Given the description of an element on the screen output the (x, y) to click on. 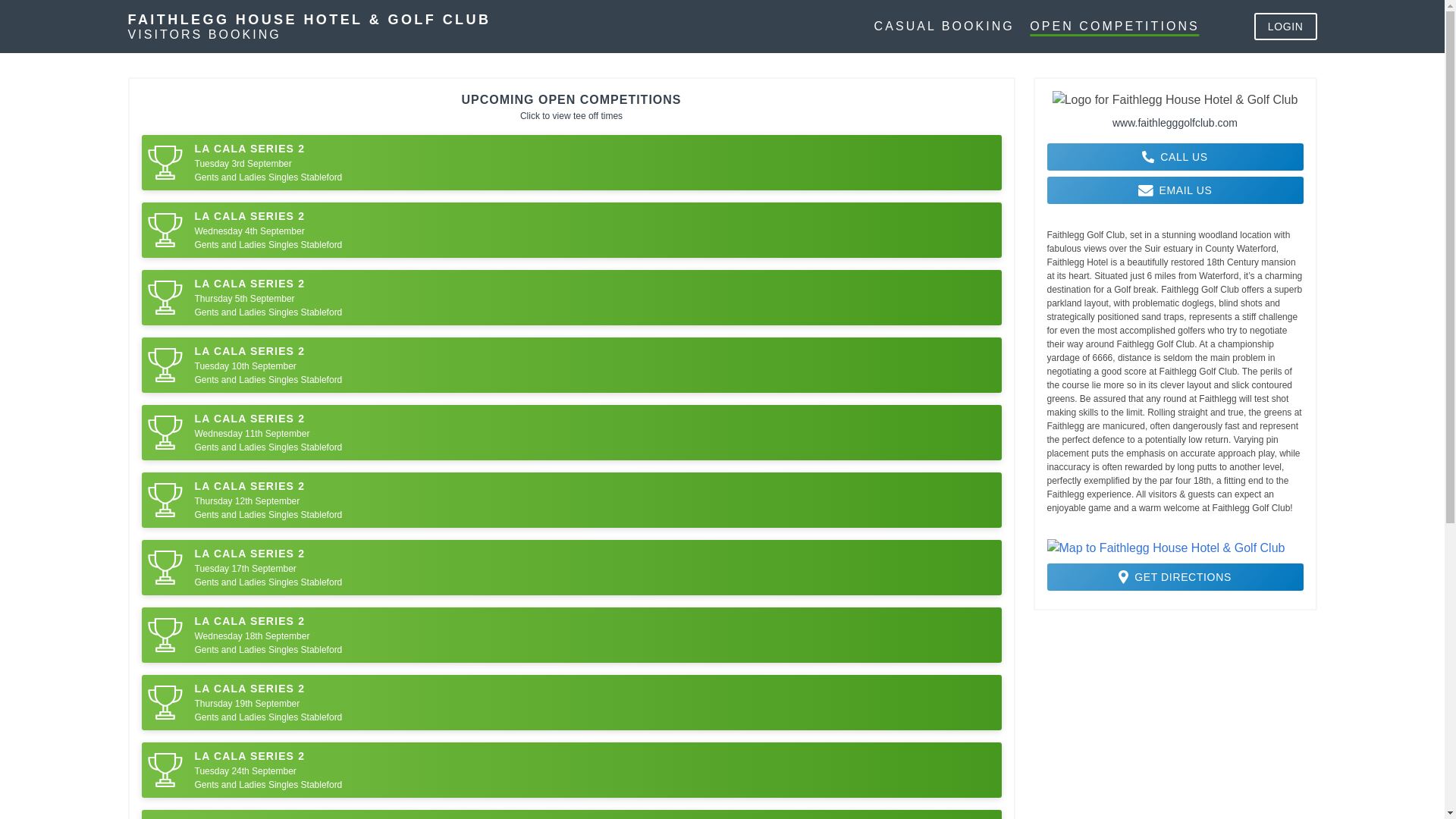
OPEN COMPETITIONS (1113, 25)
www.faithlegggolfclub.com (1174, 122)
LOGIN (1285, 26)
